Given the description of an element on the screen output the (x, y) to click on. 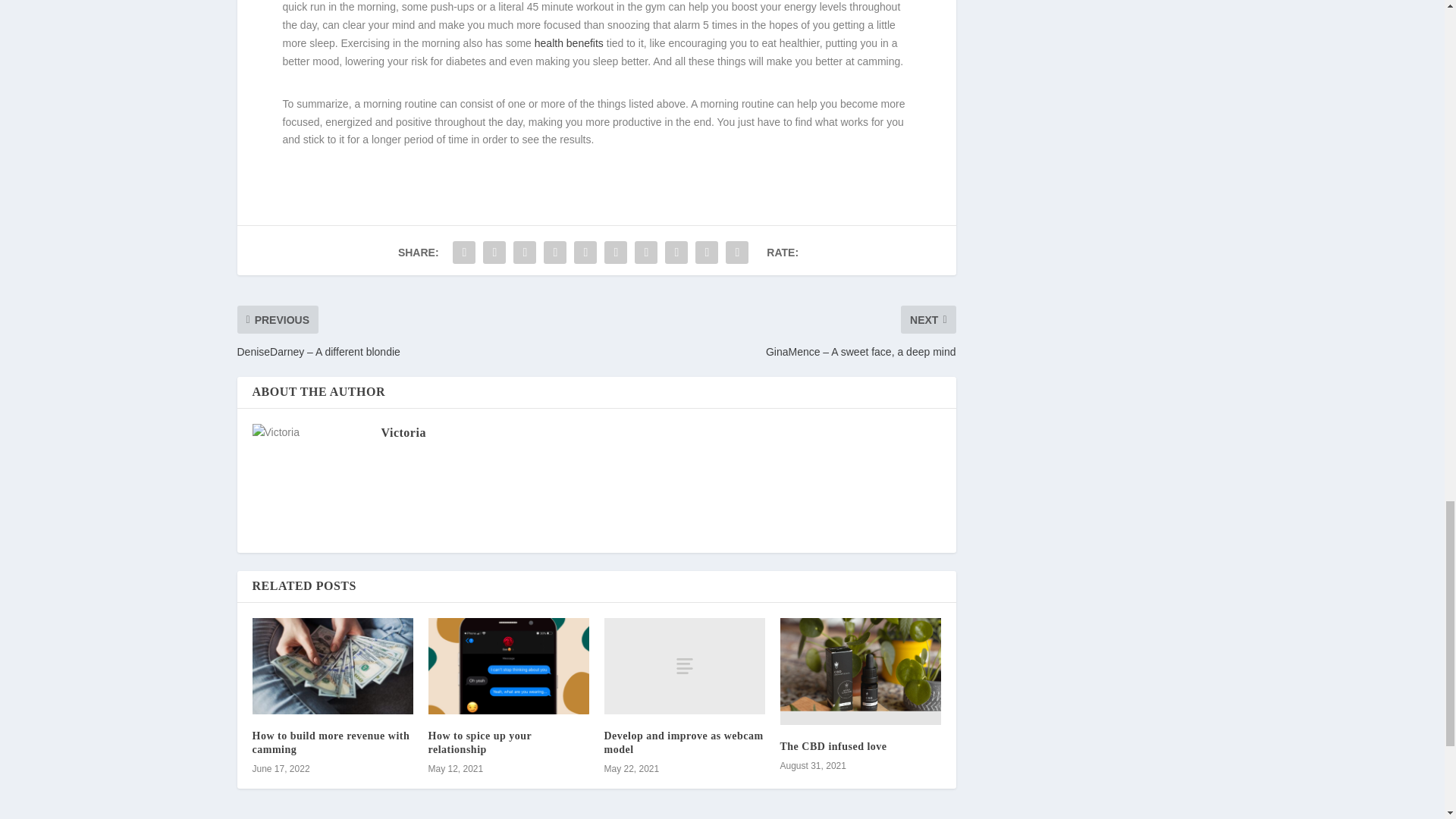
health benefits (569, 42)
How to build more revenue with camming (330, 742)
Victoria (402, 431)
